Given the description of an element on the screen output the (x, y) to click on. 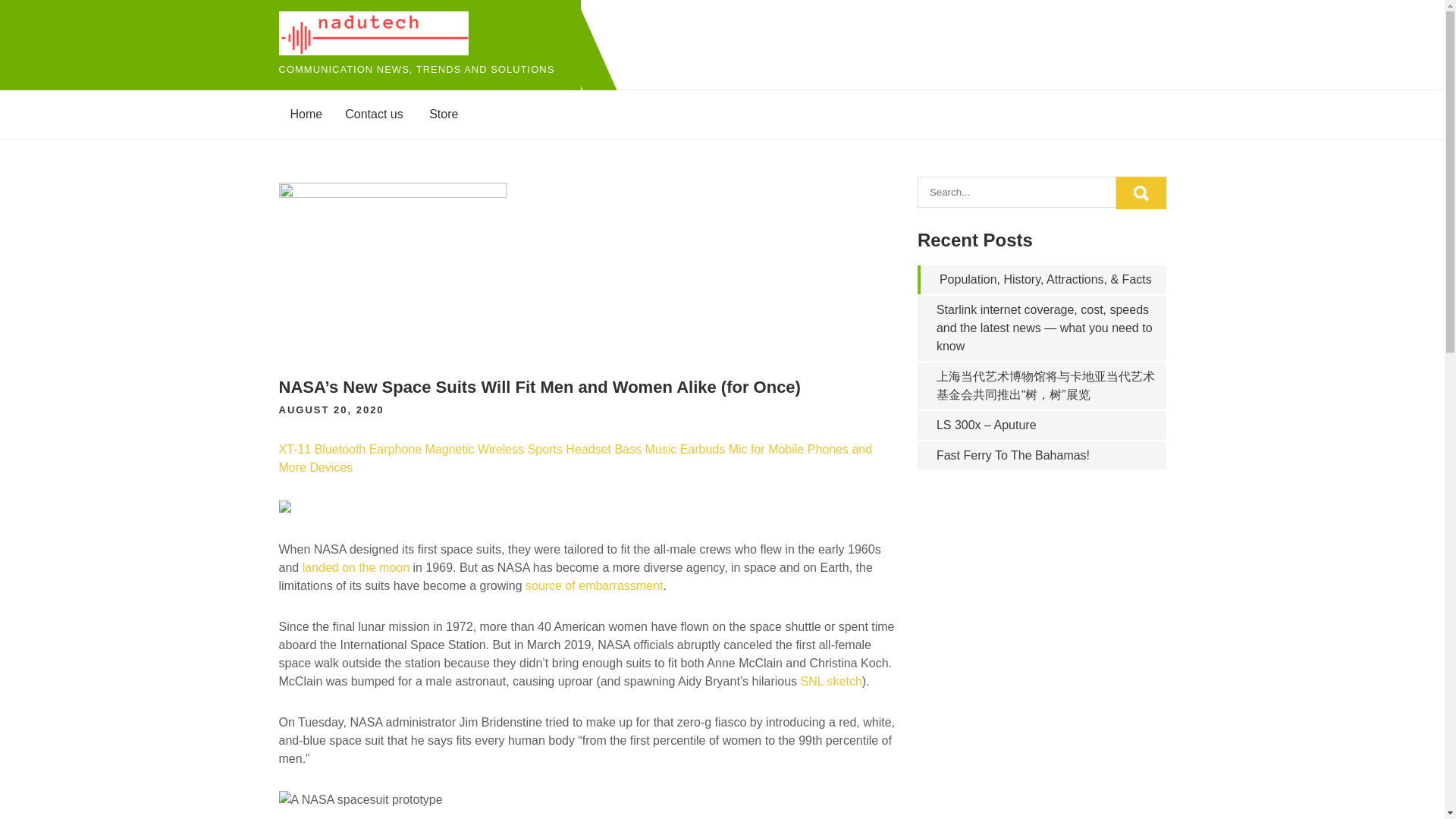
SNL sketch (830, 680)
landed on the moon (355, 567)
Contact us (373, 114)
Home (306, 114)
Store (442, 114)
Search (1141, 192)
Search (1141, 192)
Fast Ferry To The Bahamas! (1012, 454)
source of embarrassment (593, 585)
Search (1141, 192)
